Given the description of an element on the screen output the (x, y) to click on. 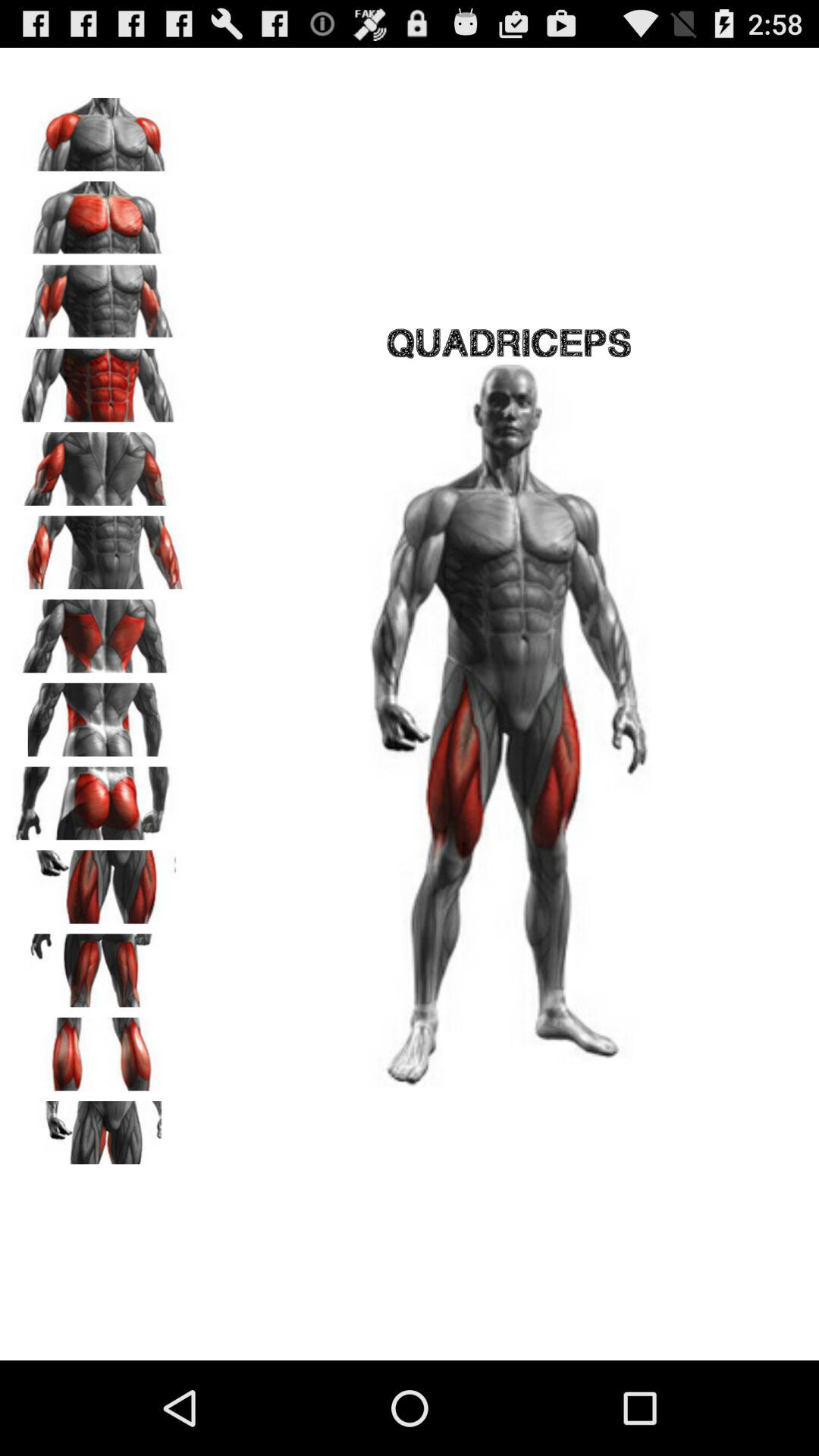
see image (99, 463)
